Given the description of an element on the screen output the (x, y) to click on. 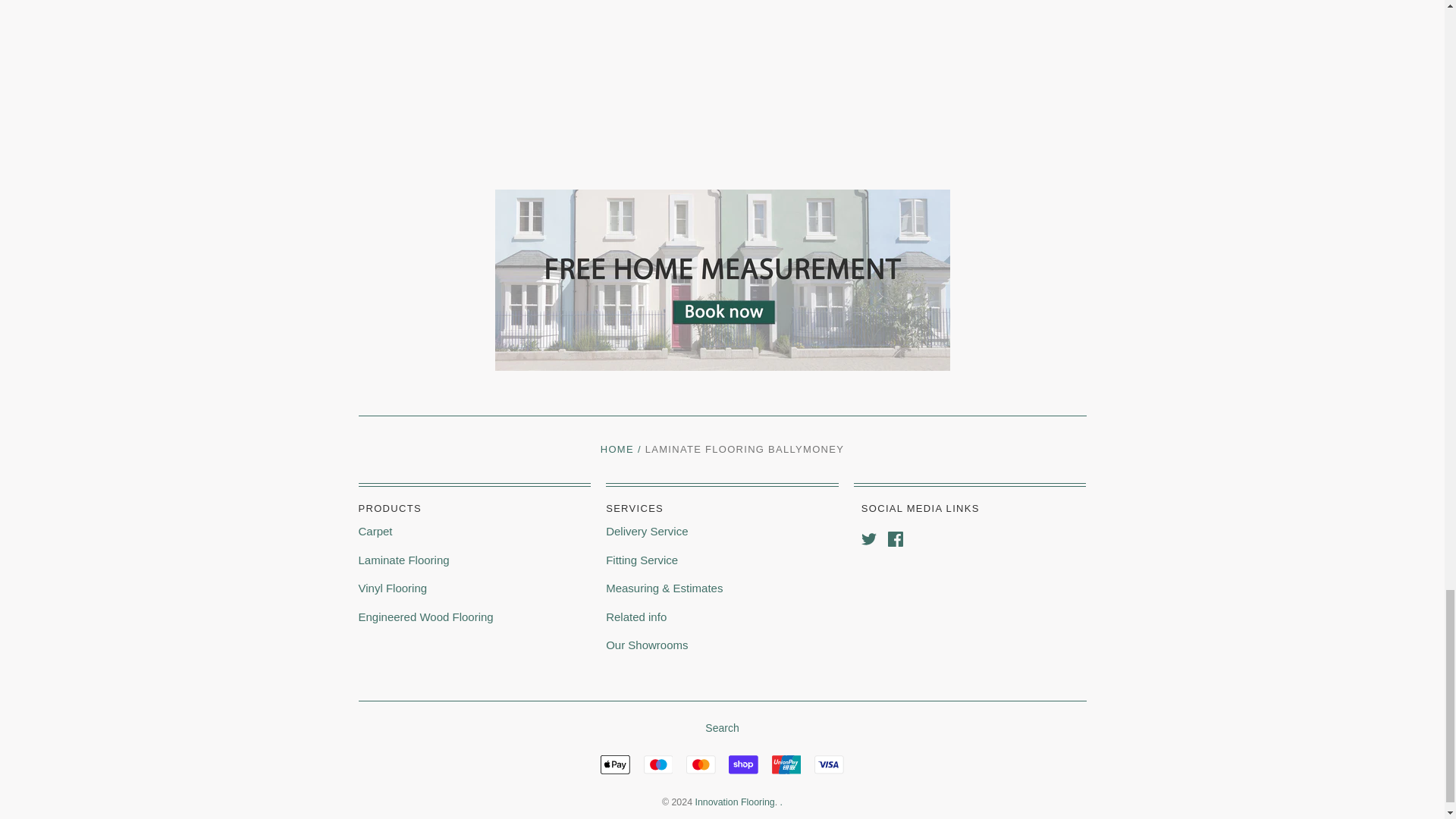
Apple Pay (614, 764)
Find Us (646, 644)
Vinyl Floors (393, 587)
Laminate (403, 559)
Mastercard (700, 764)
Related Info (635, 616)
Union Pay (785, 764)
Carpet (375, 530)
Fitting Service (641, 559)
Maestro (657, 764)
Delivery Service (646, 530)
Visa (828, 764)
Shop Pay (743, 764)
Solid Wood (425, 616)
